Given the description of an element on the screen output the (x, y) to click on. 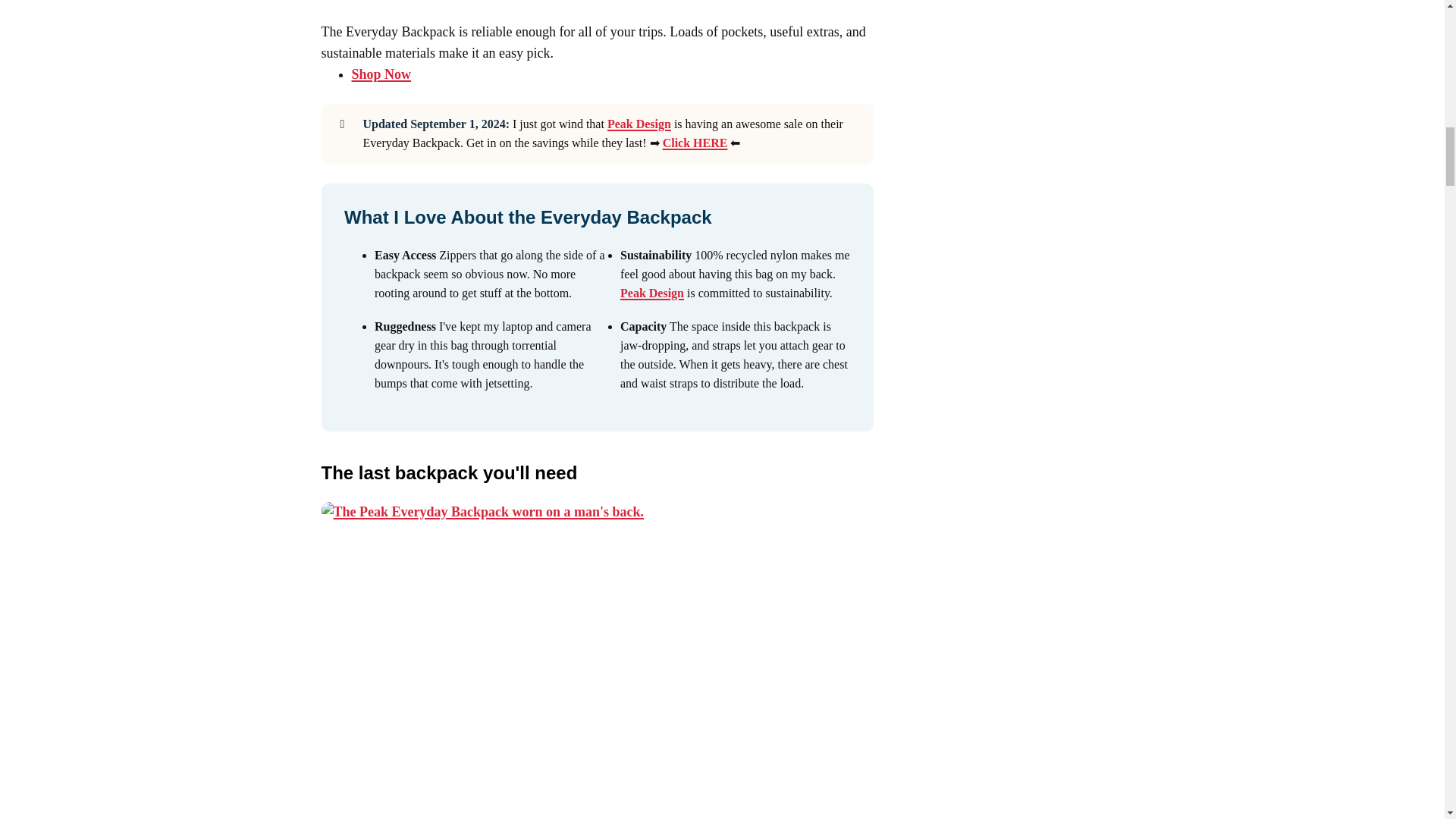
Shop Now (382, 73)
Peak Design (652, 292)
Peak Design (639, 123)
Click HERE (695, 142)
